Given the description of an element on the screen output the (x, y) to click on. 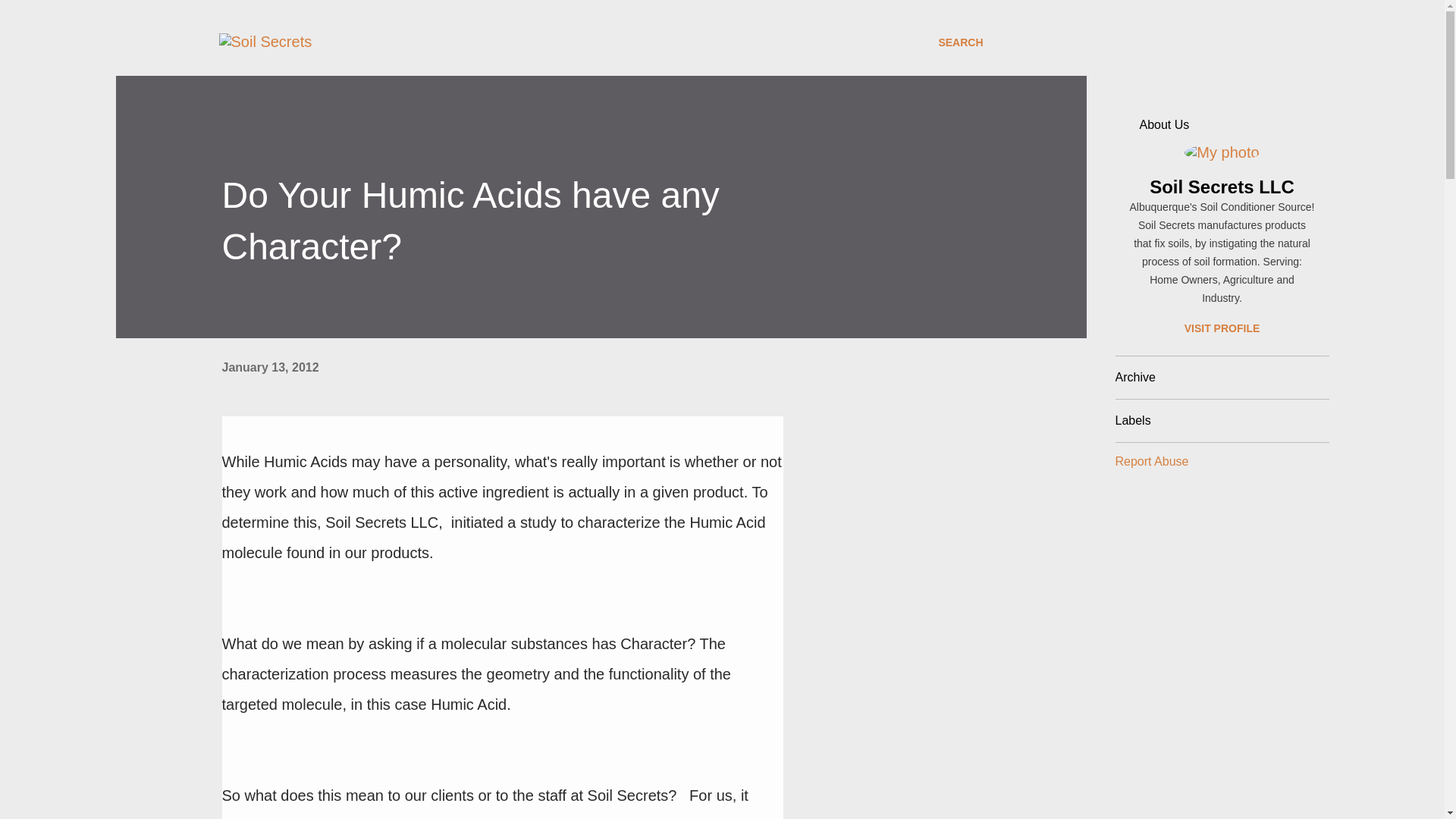
January 13, 2012 (269, 367)
permanent link (269, 367)
SEARCH (959, 42)
